Given the description of an element on the screen output the (x, y) to click on. 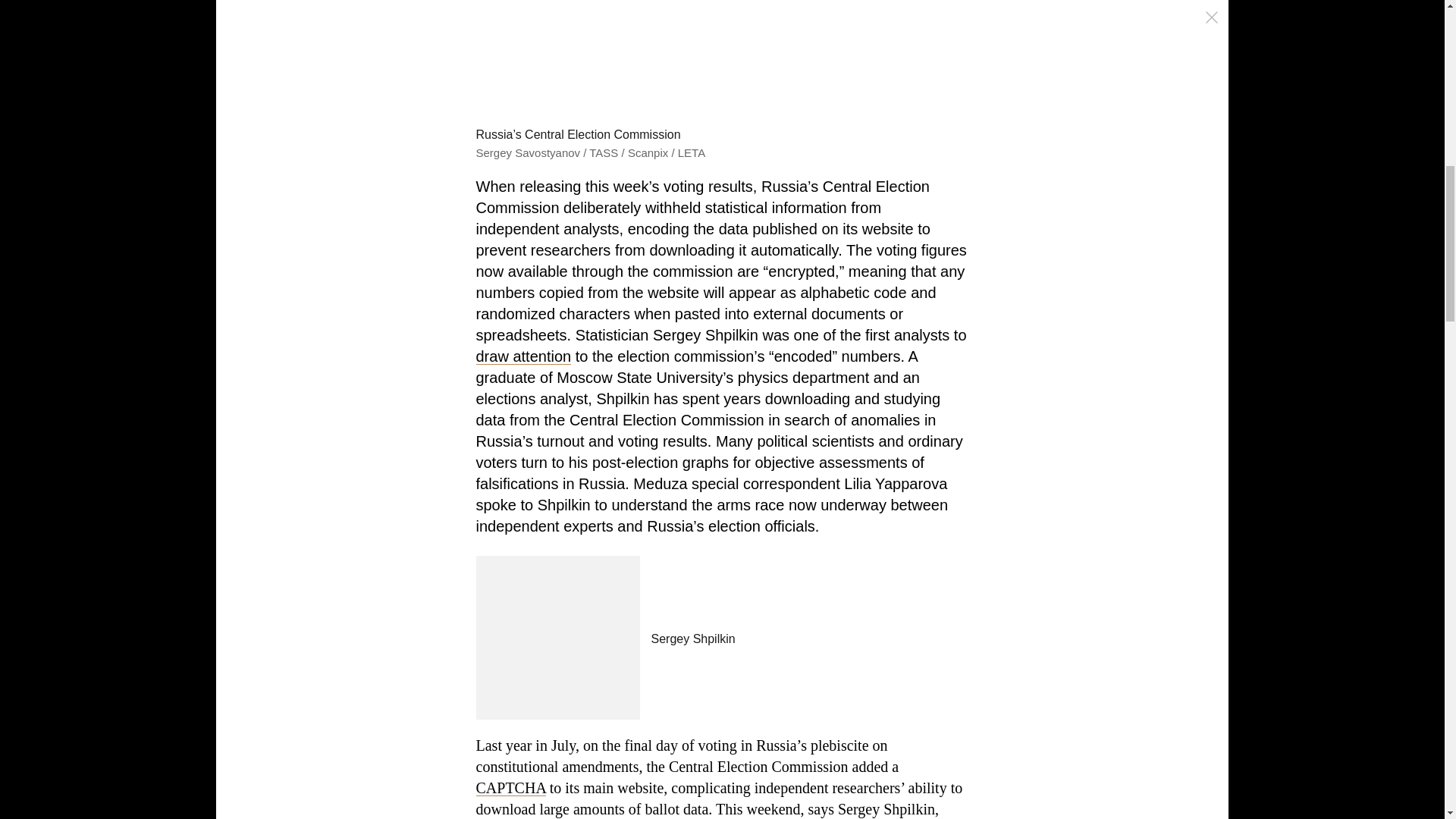
CAPTCHA (511, 787)
draw attention (524, 356)
